Given the description of an element on the screen output the (x, y) to click on. 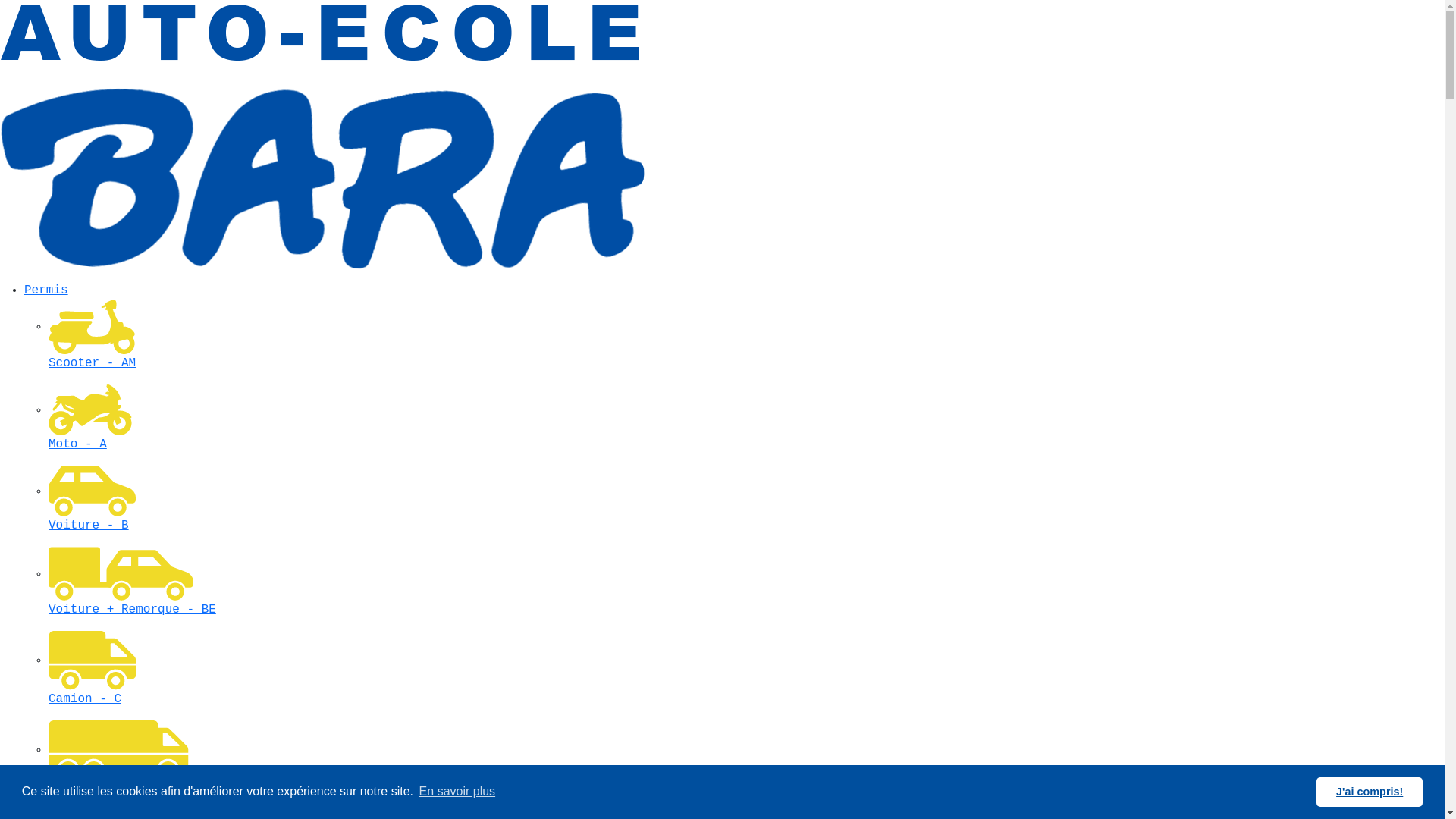
En savoir plus Element type: text (456, 791)
Camion + Remorque - CE Element type: text (746, 770)
Camion - C Element type: text (746, 680)
Voiture - B Element type: text (746, 509)
Permis Element type: text (46, 290)
J'ai compris! Element type: text (1369, 791)
Voiture + Remorque - BE Element type: text (746, 592)
Scooter - AM Element type: text (746, 346)
Moto - A Element type: text (746, 428)
